Given the description of an element on the screen output the (x, y) to click on. 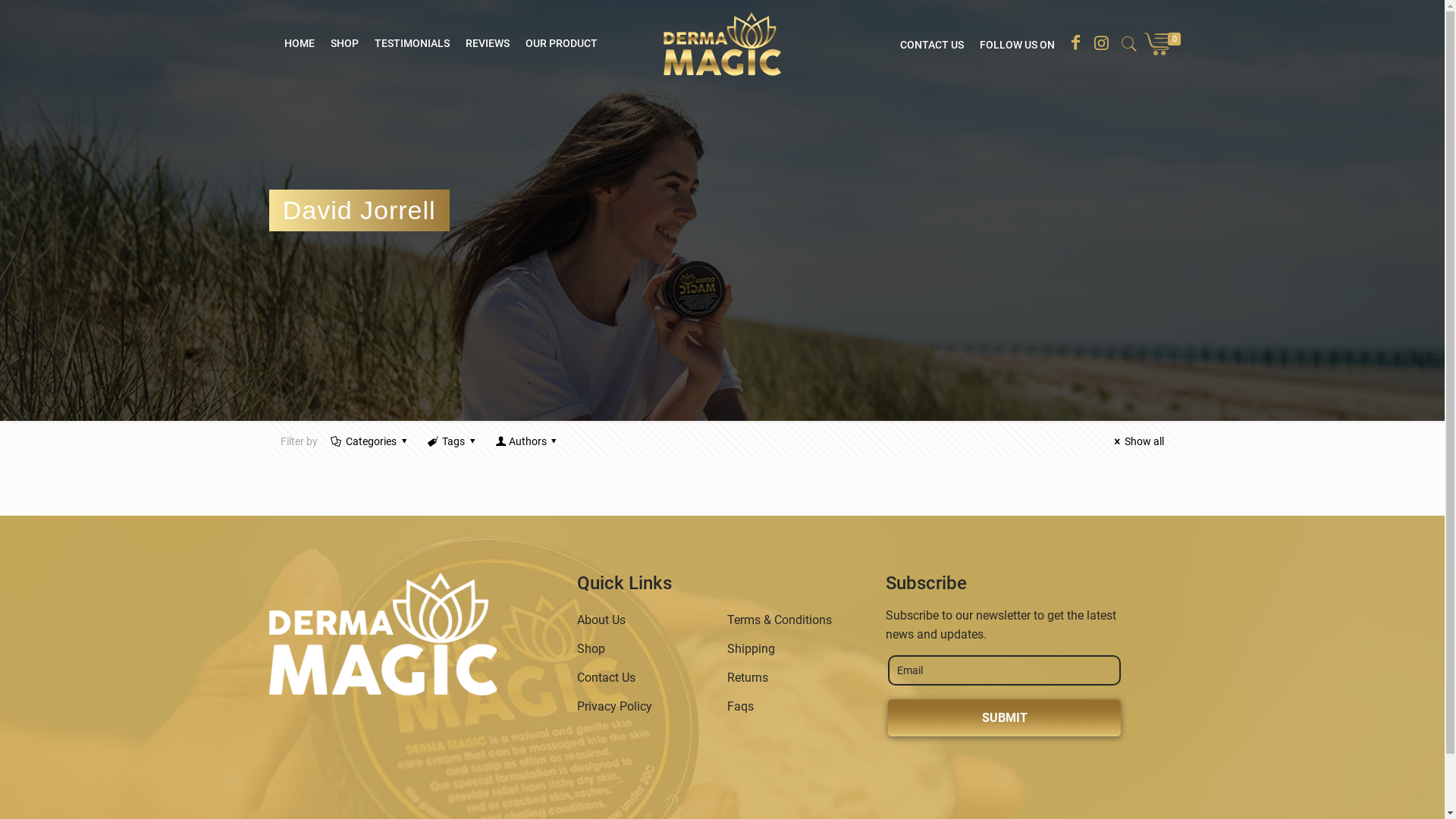
FOLLOW US ON Element type: text (1016, 44)
Shop Element type: text (591, 648)
Returns Element type: text (747, 677)
Submit Element type: text (1004, 717)
0 Element type: text (1167, 42)
HOME Element type: text (299, 43)
Categories Element type: text (371, 441)
Contact Us Element type: text (606, 677)
REVIEWS Element type: text (487, 43)
Shipping Element type: text (751, 648)
Faqs Element type: text (740, 706)
Terms & Conditions Element type: text (779, 619)
Privacy Policy Element type: text (614, 706)
CONTACT US Element type: text (931, 44)
TESTIMONIALS Element type: text (411, 43)
Derma Magic Element type: hover (722, 43)
Authors Element type: text (527, 441)
SHOP Element type: text (344, 43)
About Us Element type: text (601, 619)
Tags Element type: text (453, 441)
Show all Element type: text (1137, 441)
OUR PRODUCT Element type: text (561, 43)
